Given the description of an element on the screen output the (x, y) to click on. 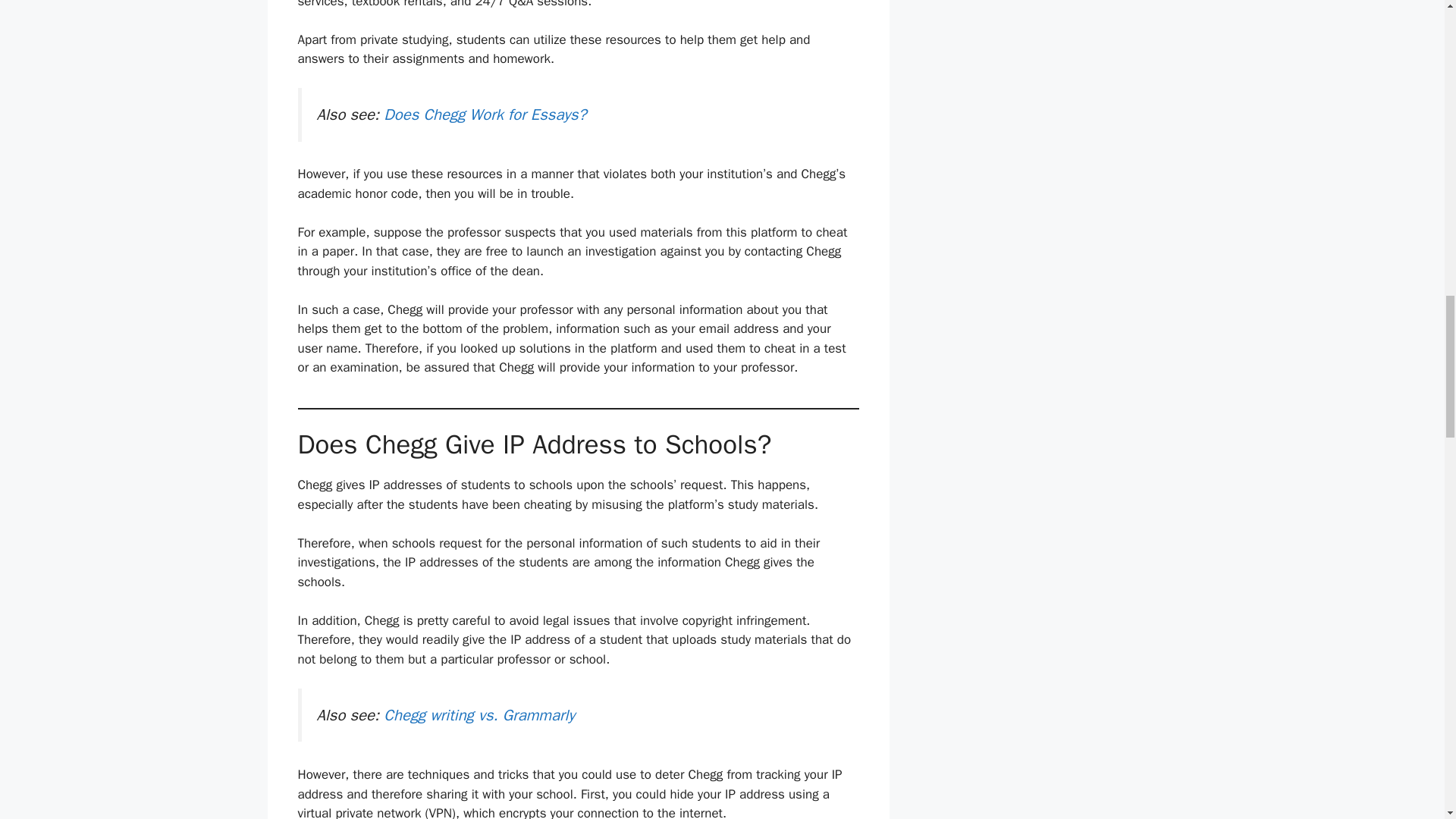
Does Chegg Work for Essays?  (487, 114)
Chegg writing vs. Grammarly (479, 714)
